Given the description of an element on the screen output the (x, y) to click on. 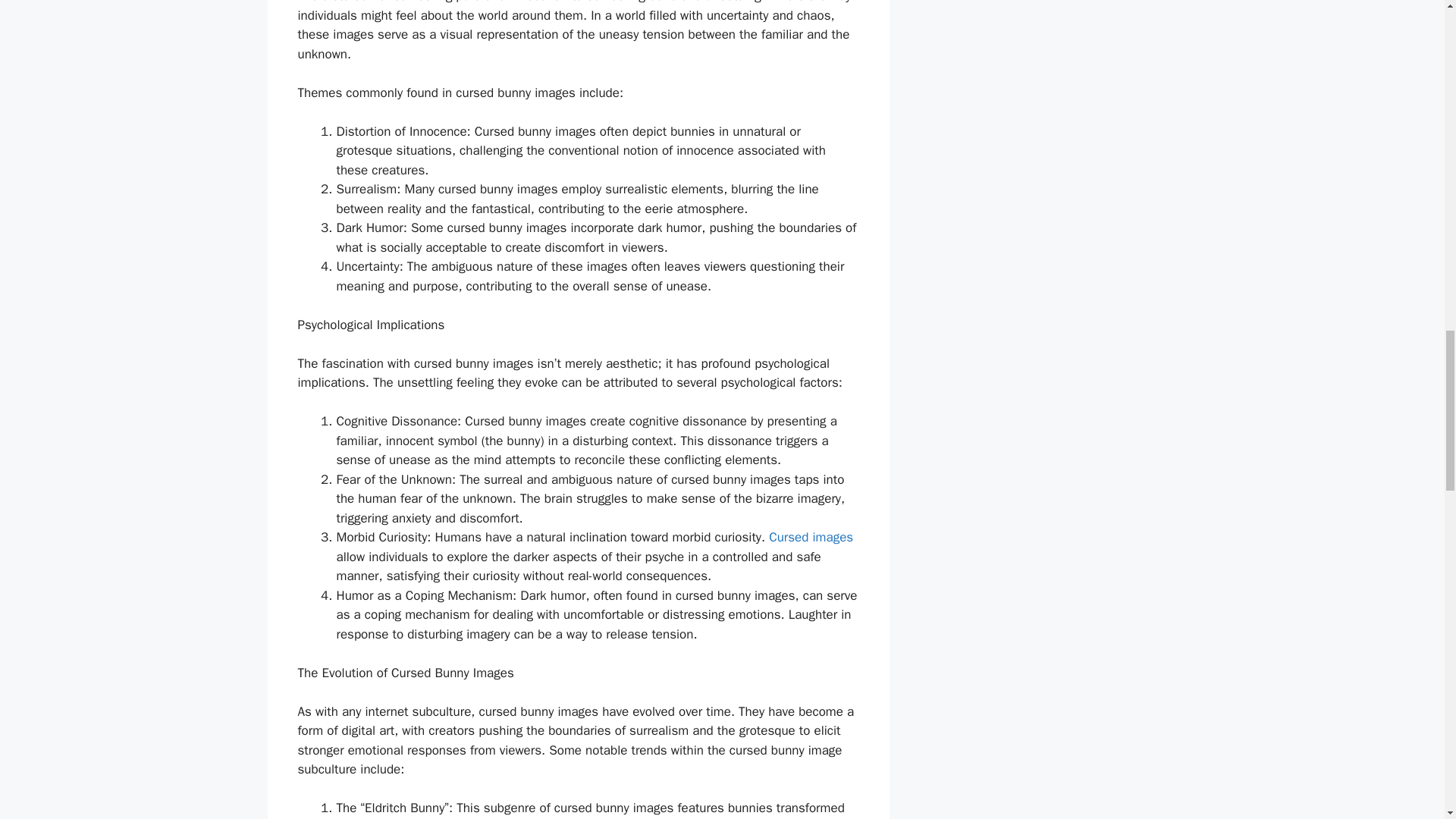
Cursed images (810, 537)
